Given the description of an element on the screen output the (x, y) to click on. 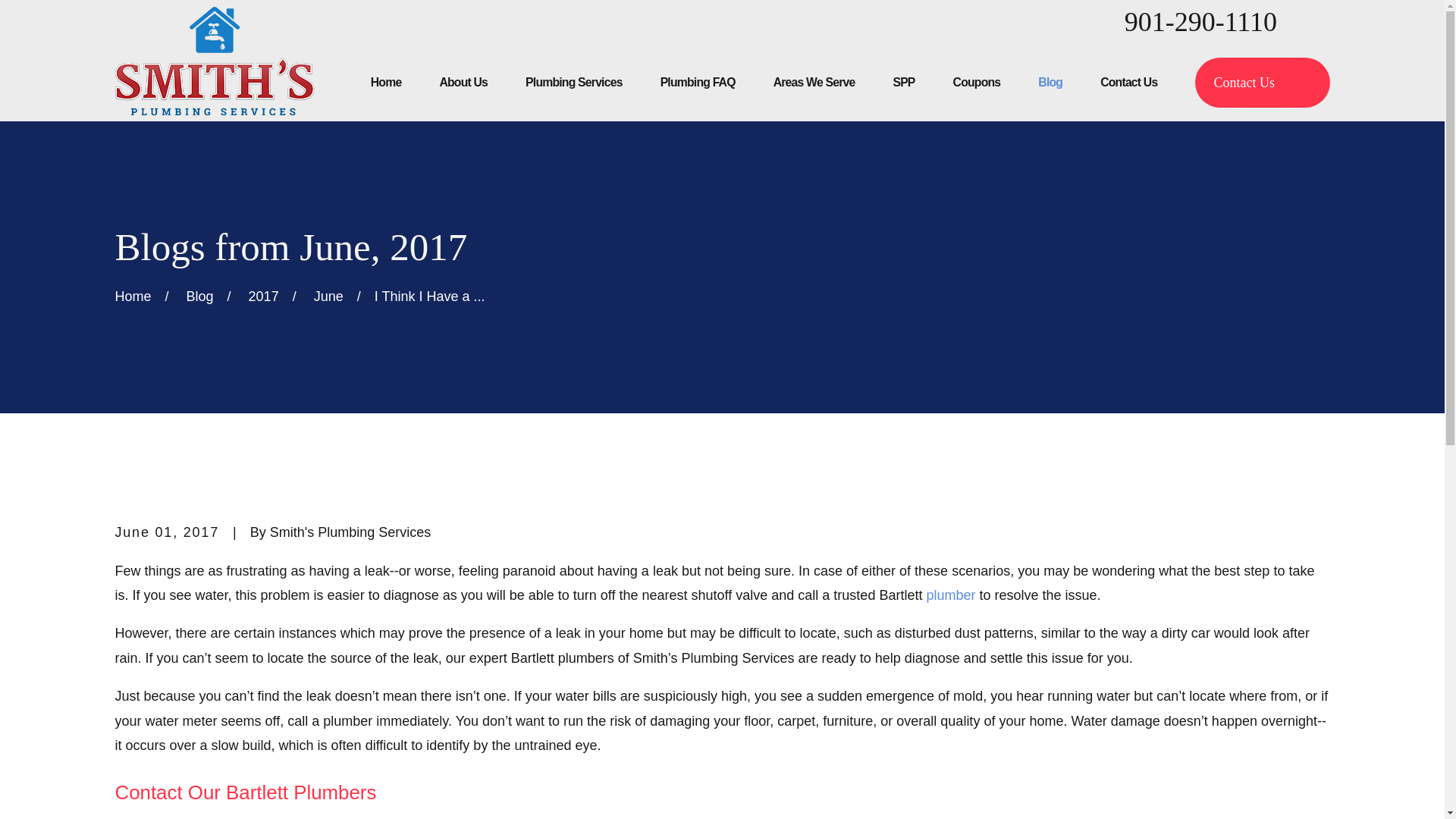
About Us (463, 82)
901-290-1110 (1200, 22)
Go Home (133, 296)
Home (214, 60)
Plumbing Services (574, 82)
Plumbing FAQ (698, 82)
Home (386, 82)
Areas We Serve (814, 82)
